Given the description of an element on the screen output the (x, y) to click on. 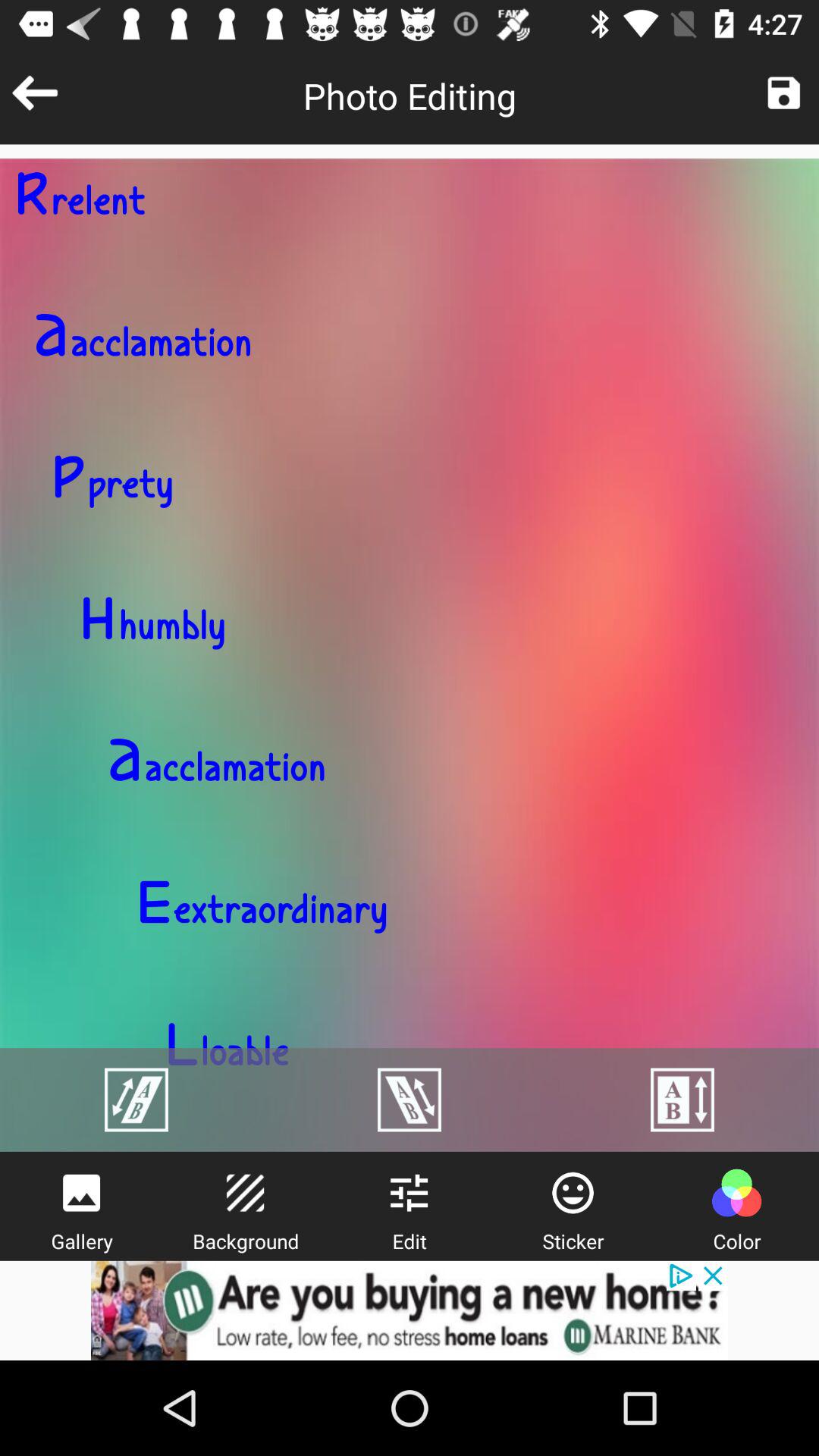
go to sticker (572, 1192)
